Given the description of an element on the screen output the (x, y) to click on. 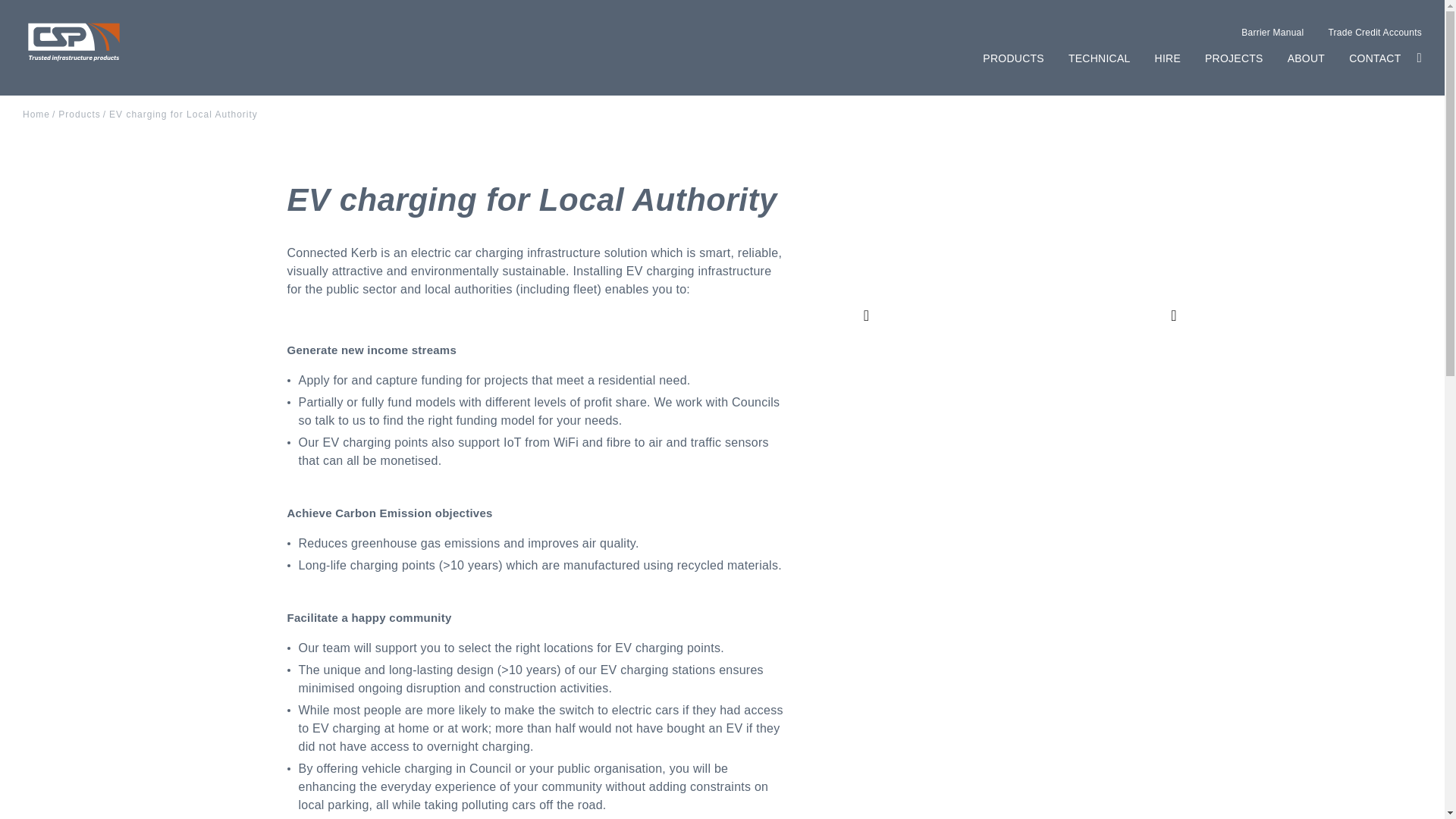
PRODUCTS (1014, 58)
CSP (74, 42)
Gecko close up flora background (1019, 314)
